Given the description of an element on the screen output the (x, y) to click on. 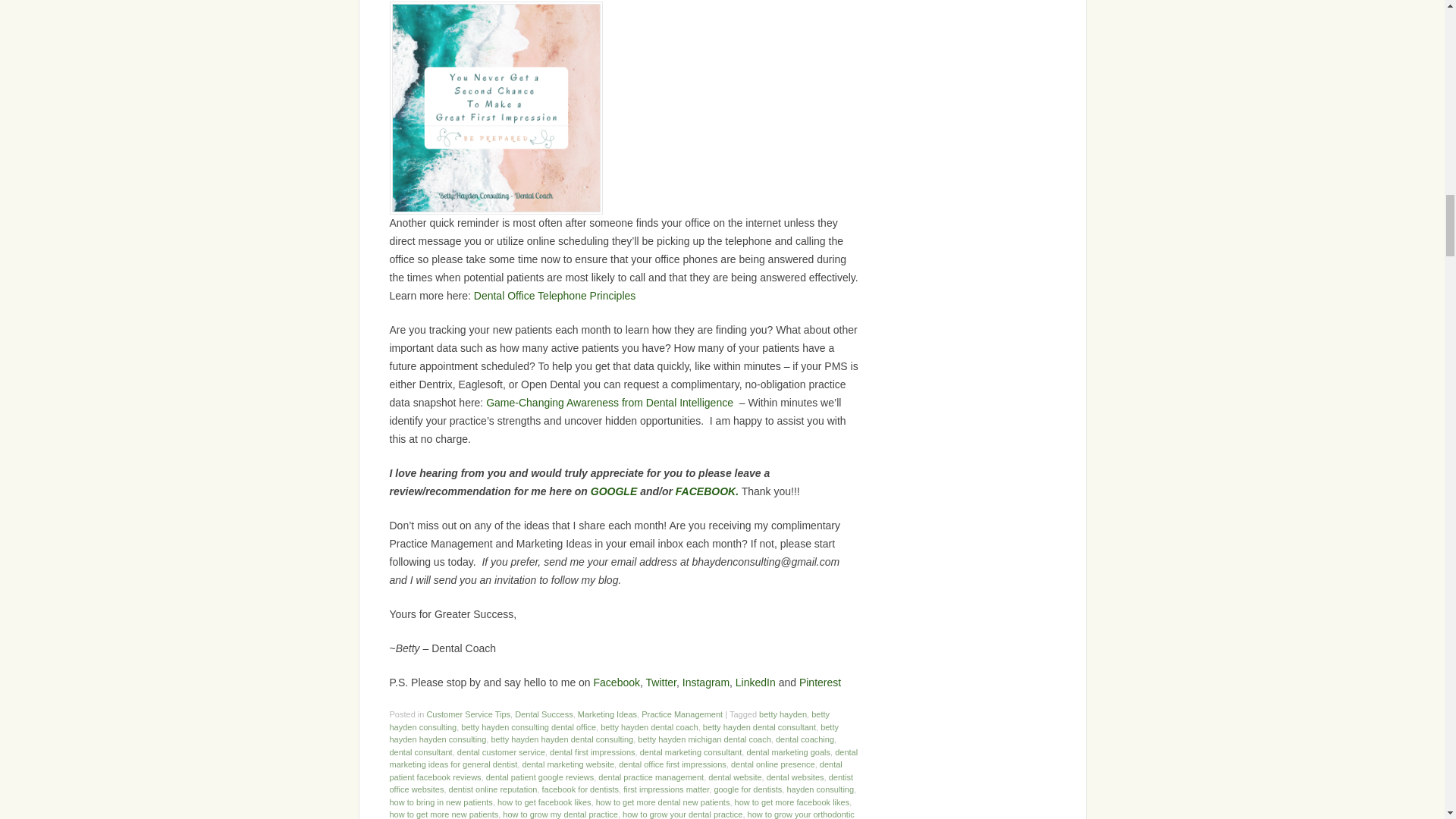
Game-Changing Awareness from Dental Intelligence (609, 402)
dental customer service (500, 751)
betty hayden consulting dental office (528, 727)
betty hayden hayden consulting (614, 733)
dental first impressions (592, 751)
Practice Management (682, 714)
dental marketing consultant (691, 751)
FACEBOOK. (706, 491)
Dental Success (543, 714)
Customer Service Tips (468, 714)
LinkedIn (755, 682)
Dental Office Telephone Principles (555, 295)
dental consultant (421, 751)
betty hayden michigan dental coach (704, 738)
Instagram (705, 682)
